Given the description of an element on the screen output the (x, y) to click on. 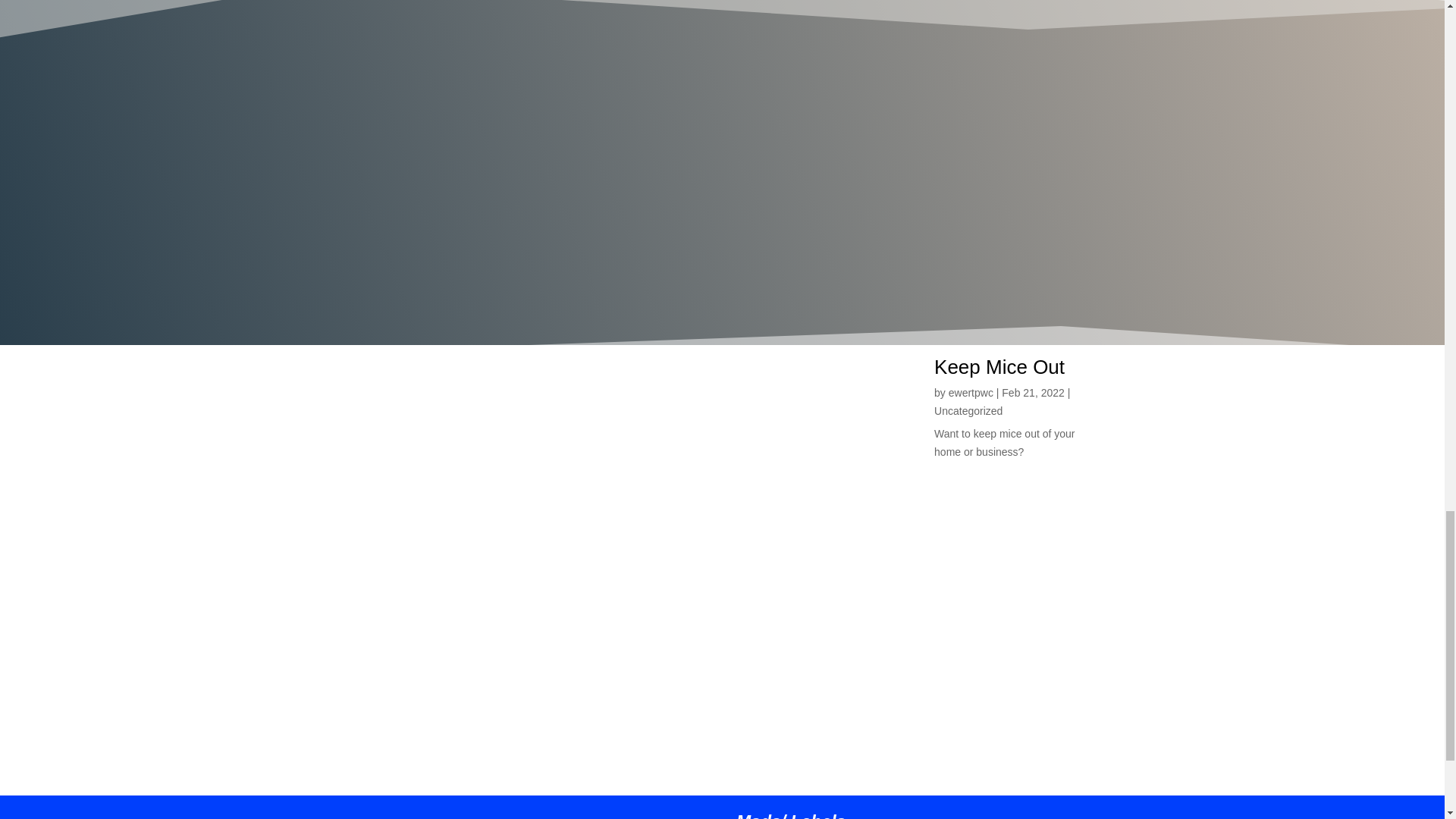
Keep Mice Out (999, 366)
ewertpwc (970, 392)
Uncategorized (968, 410)
Introduction to Ewert Pest Control (433, 587)
Posts by ewertpwc (970, 392)
